Given the description of an element on the screen output the (x, y) to click on. 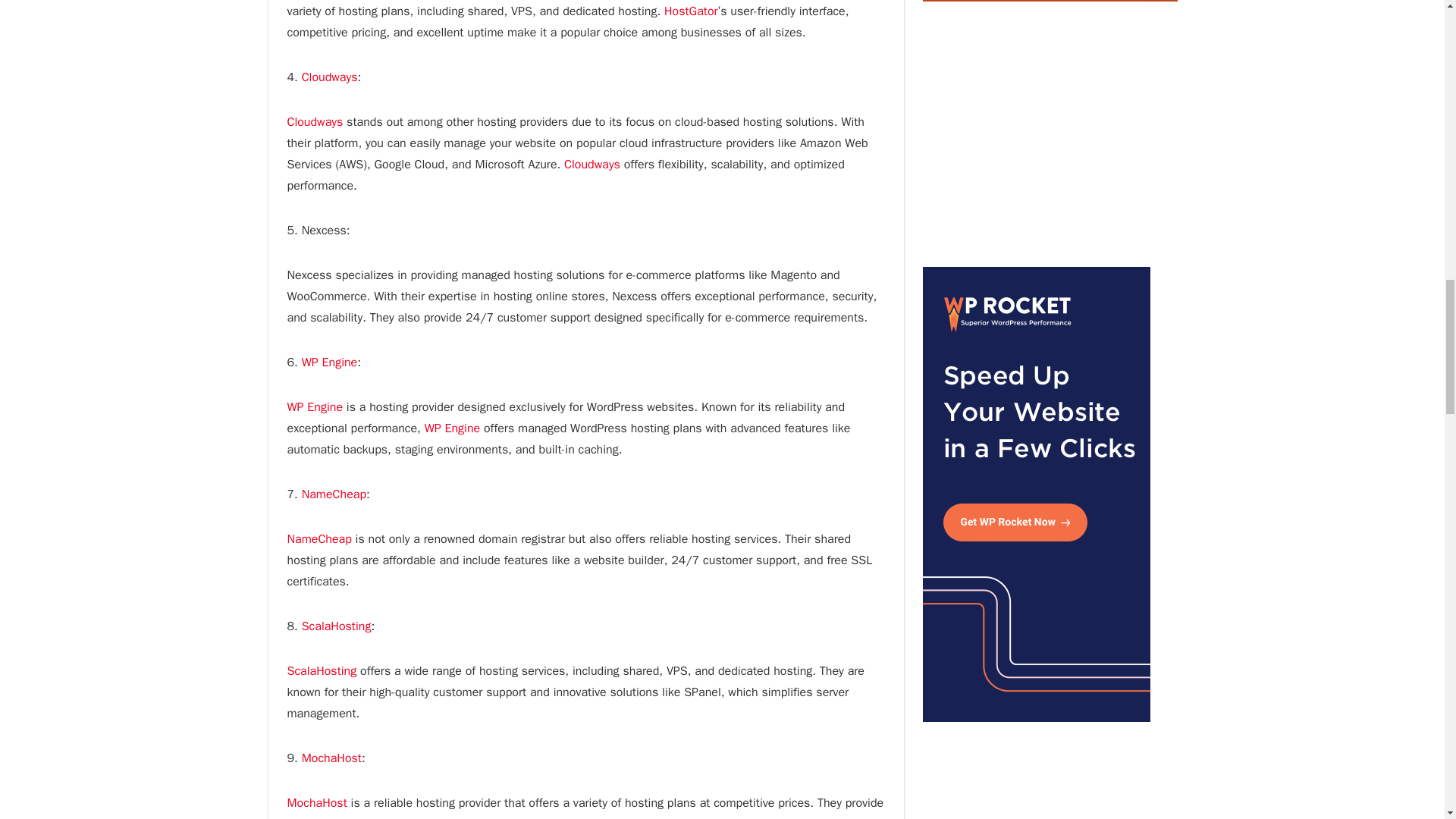
Cloudways (592, 163)
WP Engine (452, 427)
Cloudways (314, 120)
NameCheap (318, 538)
HostGator (690, 10)
NameCheap (333, 494)
Cloudways (329, 77)
WP Engine (314, 406)
WP Engine (329, 362)
Advertisement (1048, 133)
